Given the description of an element on the screen output the (x, y) to click on. 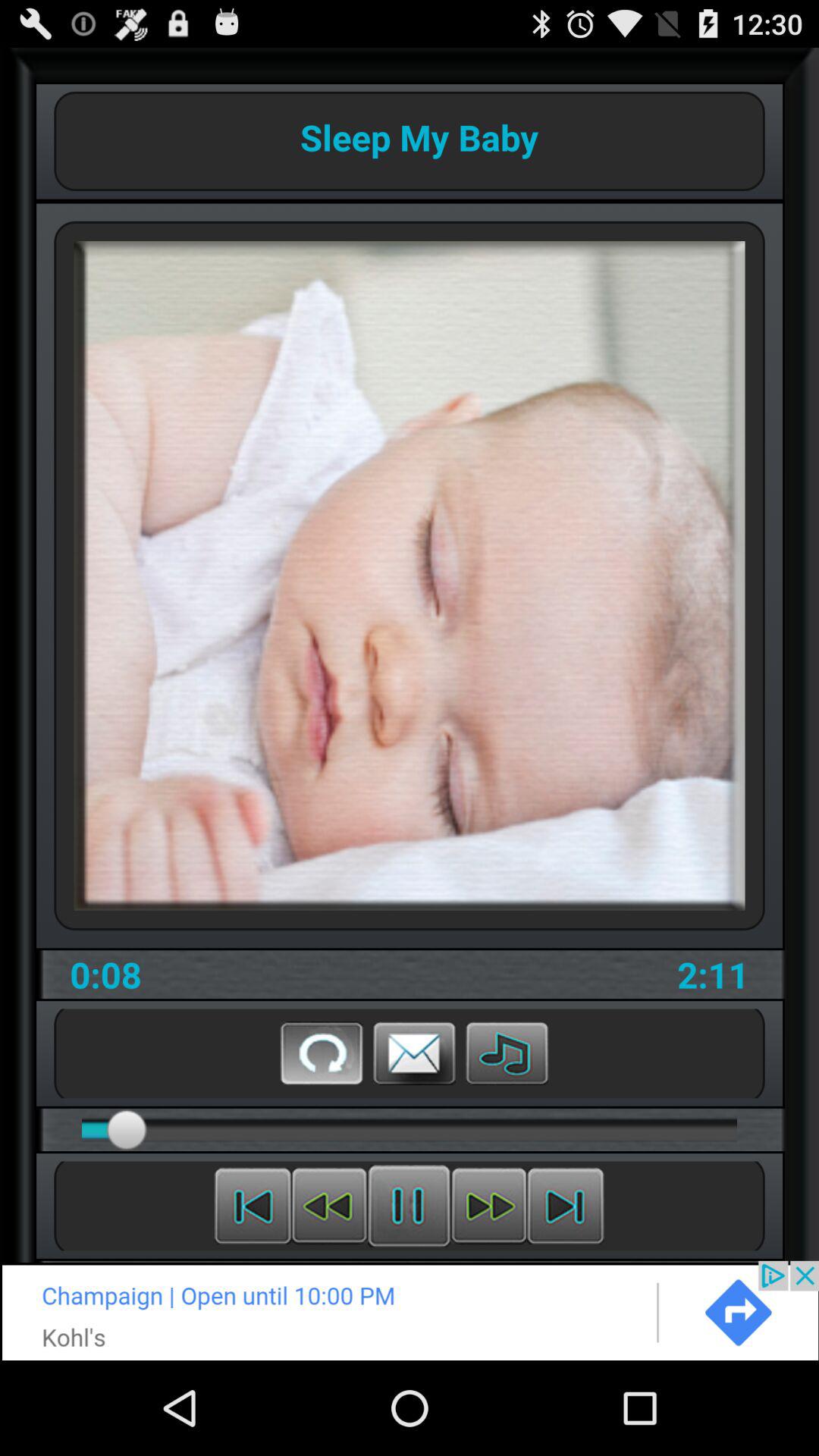
start to music (506, 1053)
